Given the description of an element on the screen output the (x, y) to click on. 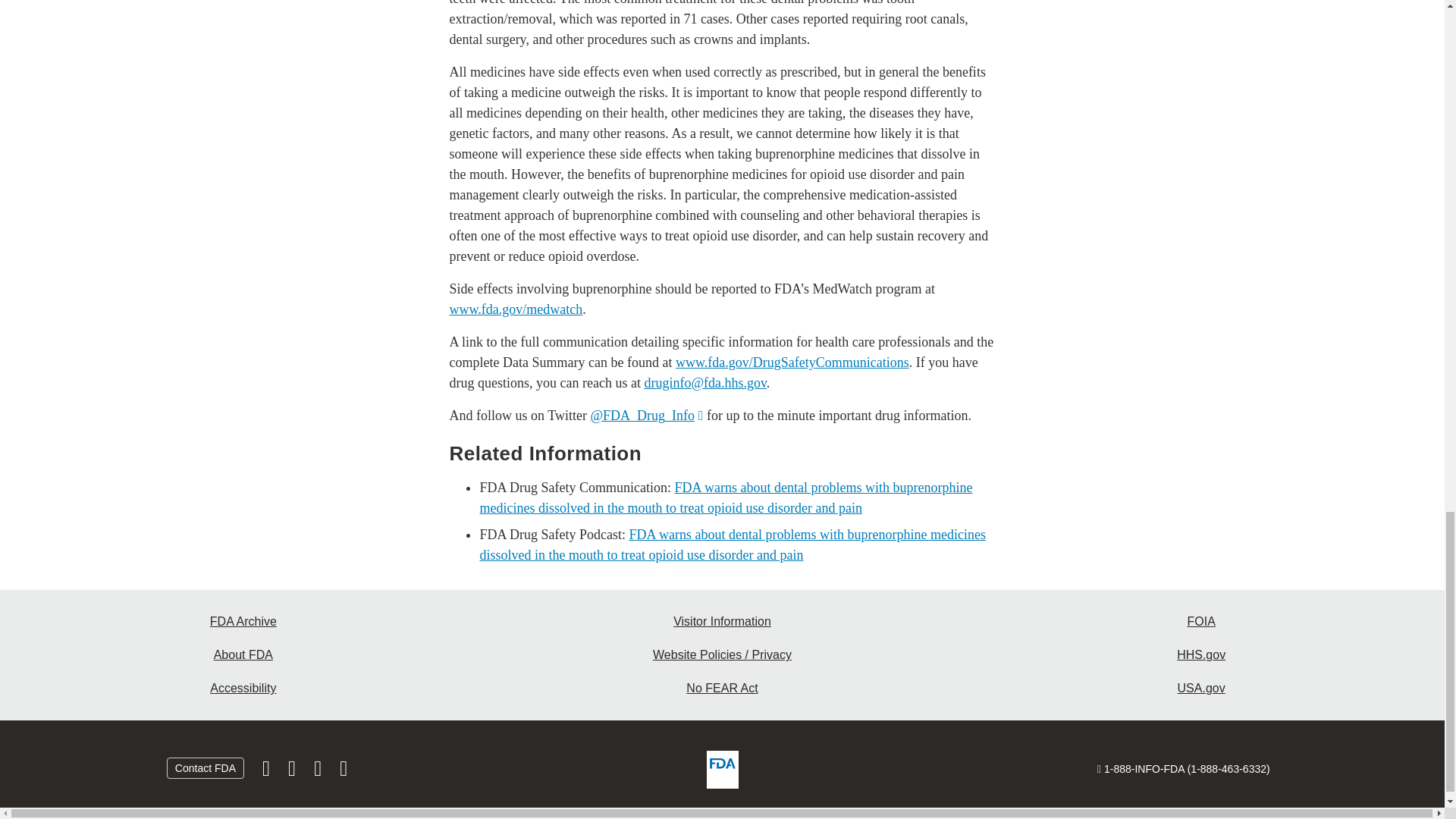
View FDA videos on YouTube (318, 771)
Follow FDA on Twitter (293, 771)
Follow FDA on Facebook (267, 771)
Freedom of Information Act (1200, 621)
Subscribe to FDA RSS feeds (343, 771)
Health and Human Services (1200, 654)
Drug Safety Communications (791, 362)
